Given the description of an element on the screen output the (x, y) to click on. 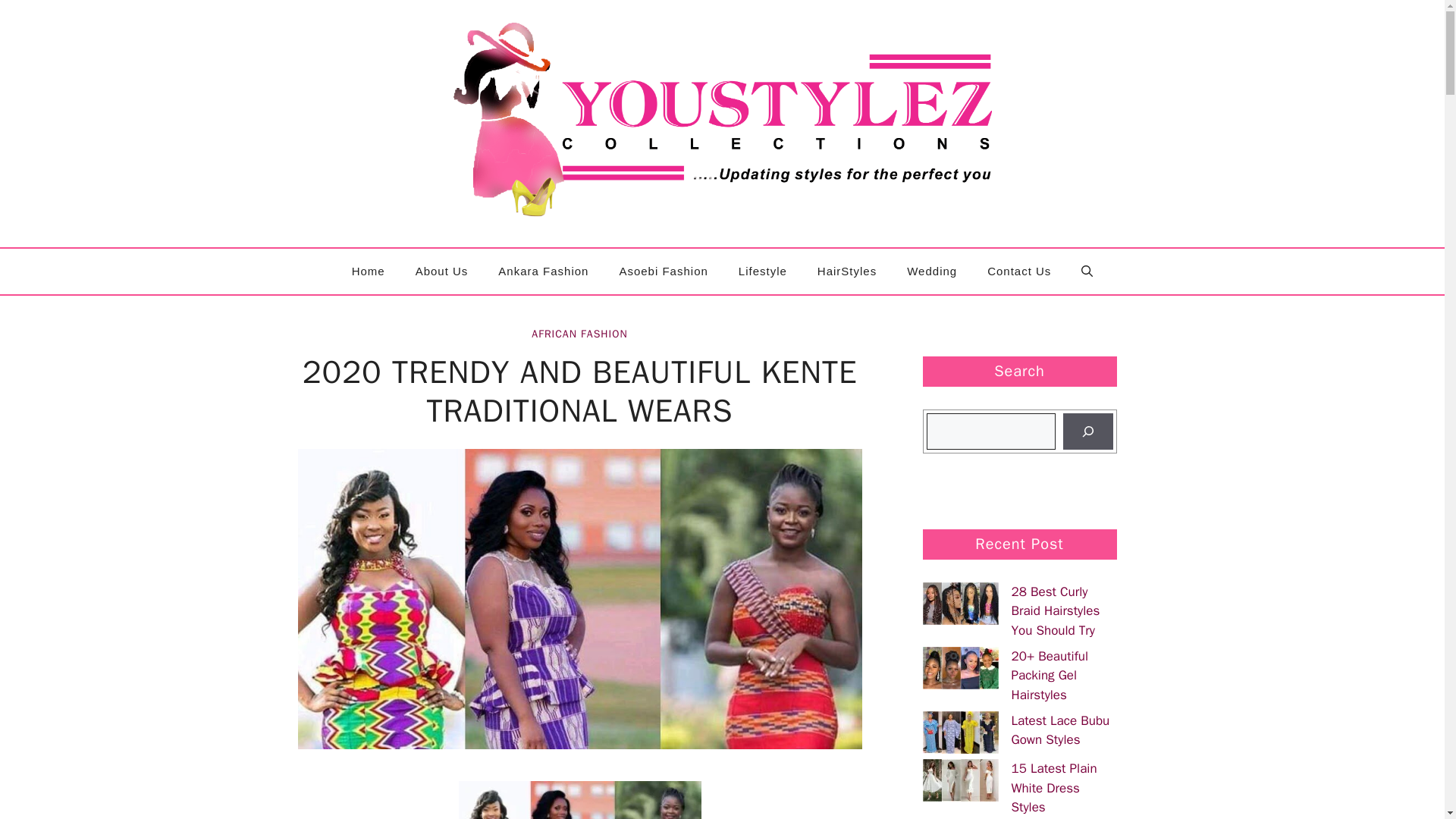
HairStyles (846, 271)
Home (368, 271)
About Us (441, 271)
Asoebi Fashion (663, 271)
Contact Us (1018, 271)
Wedding (931, 271)
AFRICAN FASHION (579, 333)
Ankara Fashion (543, 271)
Lifestyle (762, 271)
